Given the description of an element on the screen output the (x, y) to click on. 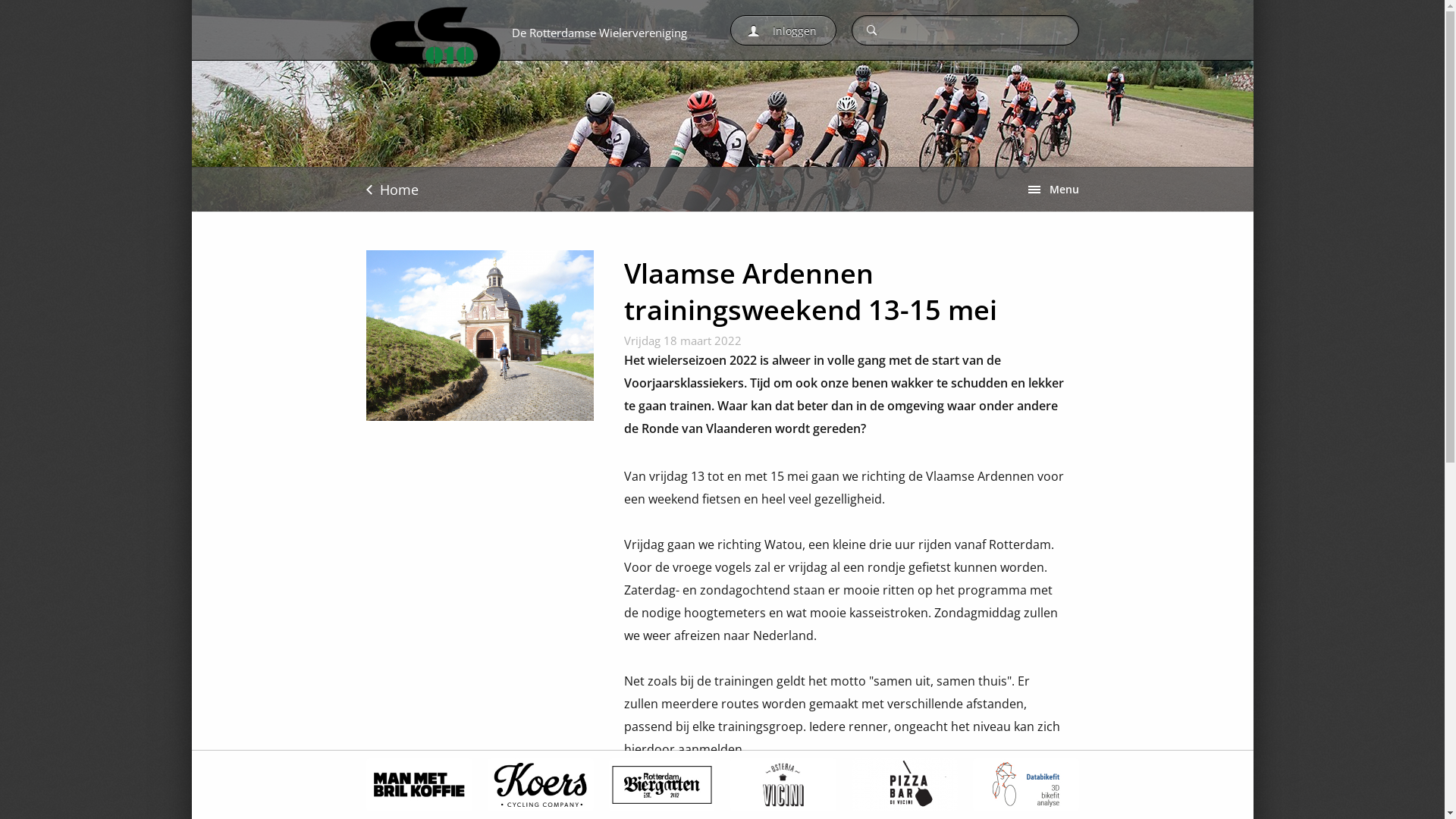
https://forms.gle/ntszkzmnuiVjFgoA9 Element type: text (920, 794)
Home Element type: text (391, 189)
De Rotterdamse Wielervereniging Element type: text (531, 30)
Inloggen Element type: text (782, 30)
